Given the description of an element on the screen output the (x, y) to click on. 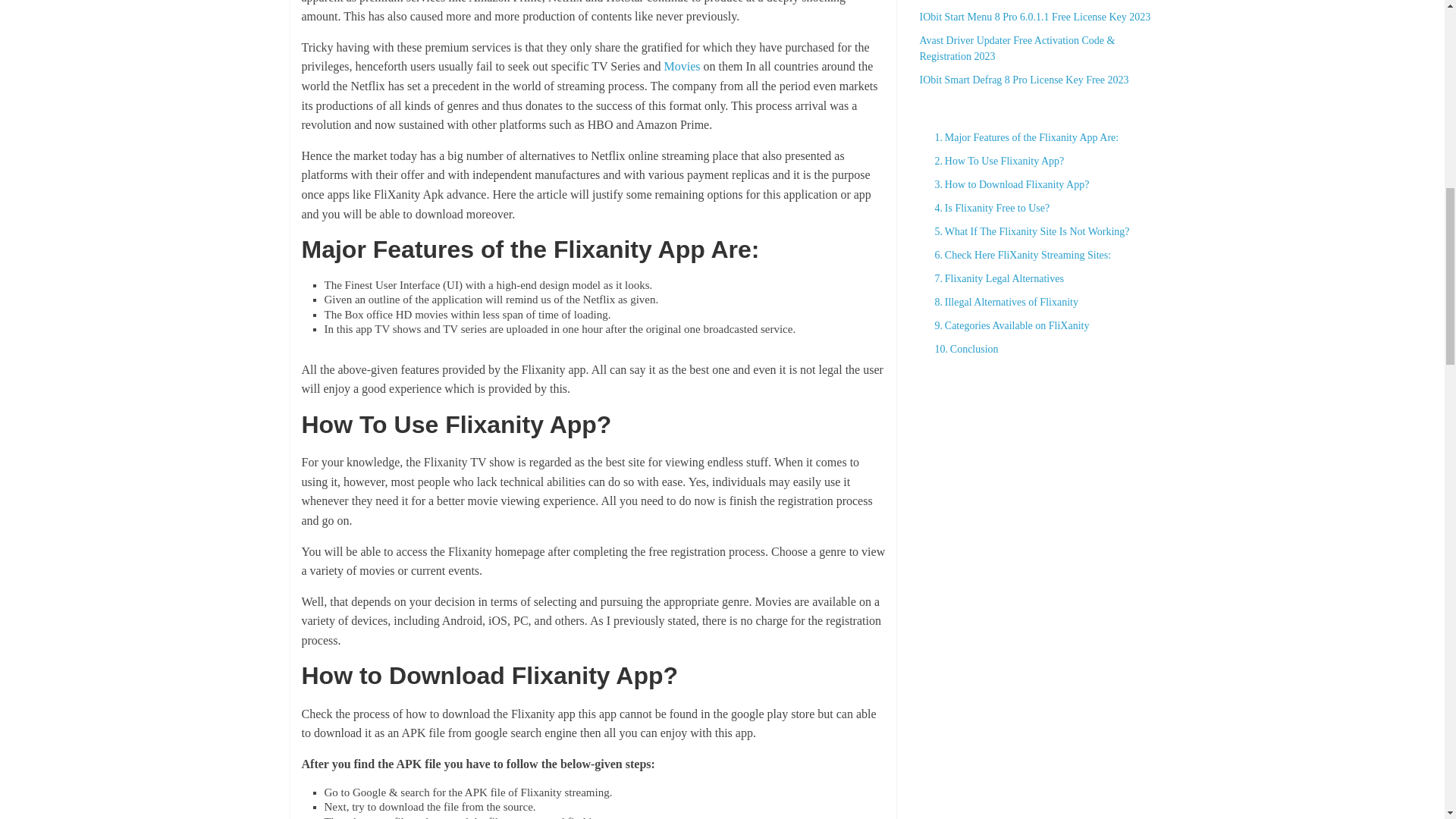
What If The Flixanity Site Is Not Working? (1027, 231)
Major Features of the Flixanity App Are: (1022, 137)
How To Use Flixanity App? (995, 160)
Check Here FliXanity Streaming Sites: (1018, 254)
How to Download Flixanity App? (1007, 184)
Conclusion (961, 349)
Flixanity Legal Alternatives (994, 278)
Movies (681, 65)
